Given the description of an element on the screen output the (x, y) to click on. 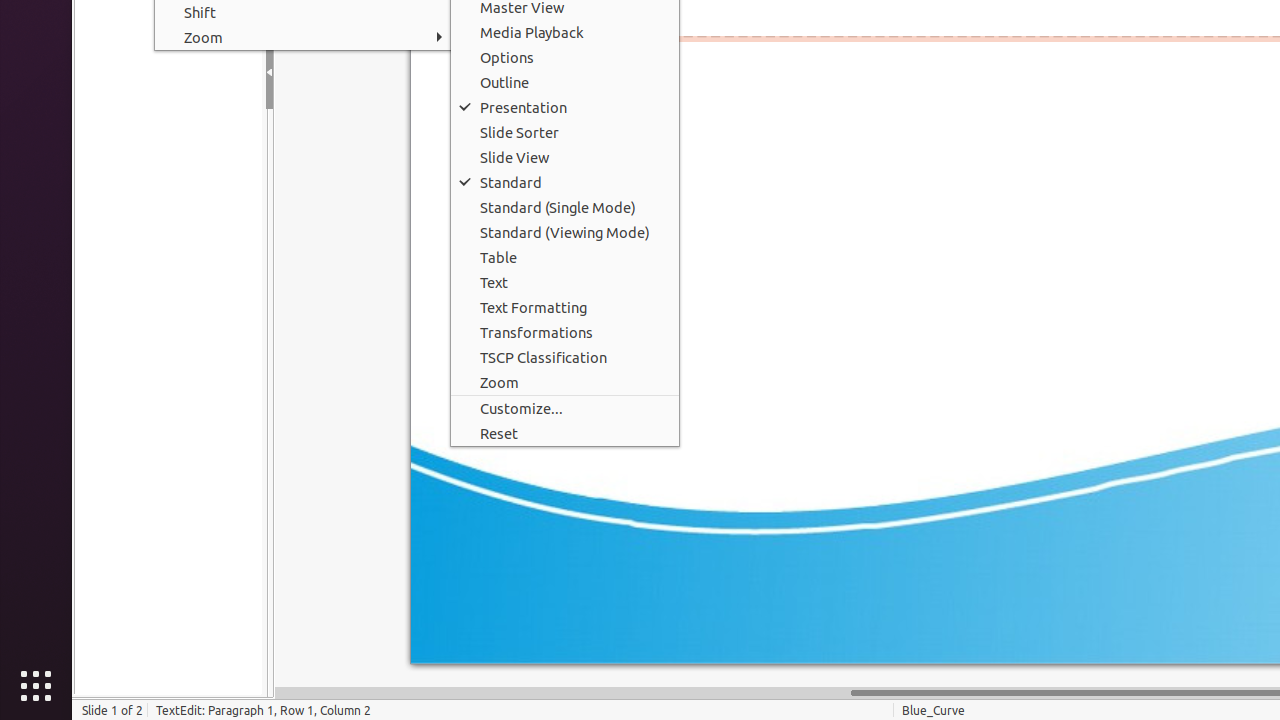
Text Element type: check-menu-item (565, 282)
Presentation Element type: check-menu-item (565, 107)
Slide Sorter Element type: check-menu-item (565, 132)
Table Element type: check-menu-item (565, 257)
Transformations Element type: check-menu-item (565, 332)
